Given the description of an element on the screen output the (x, y) to click on. 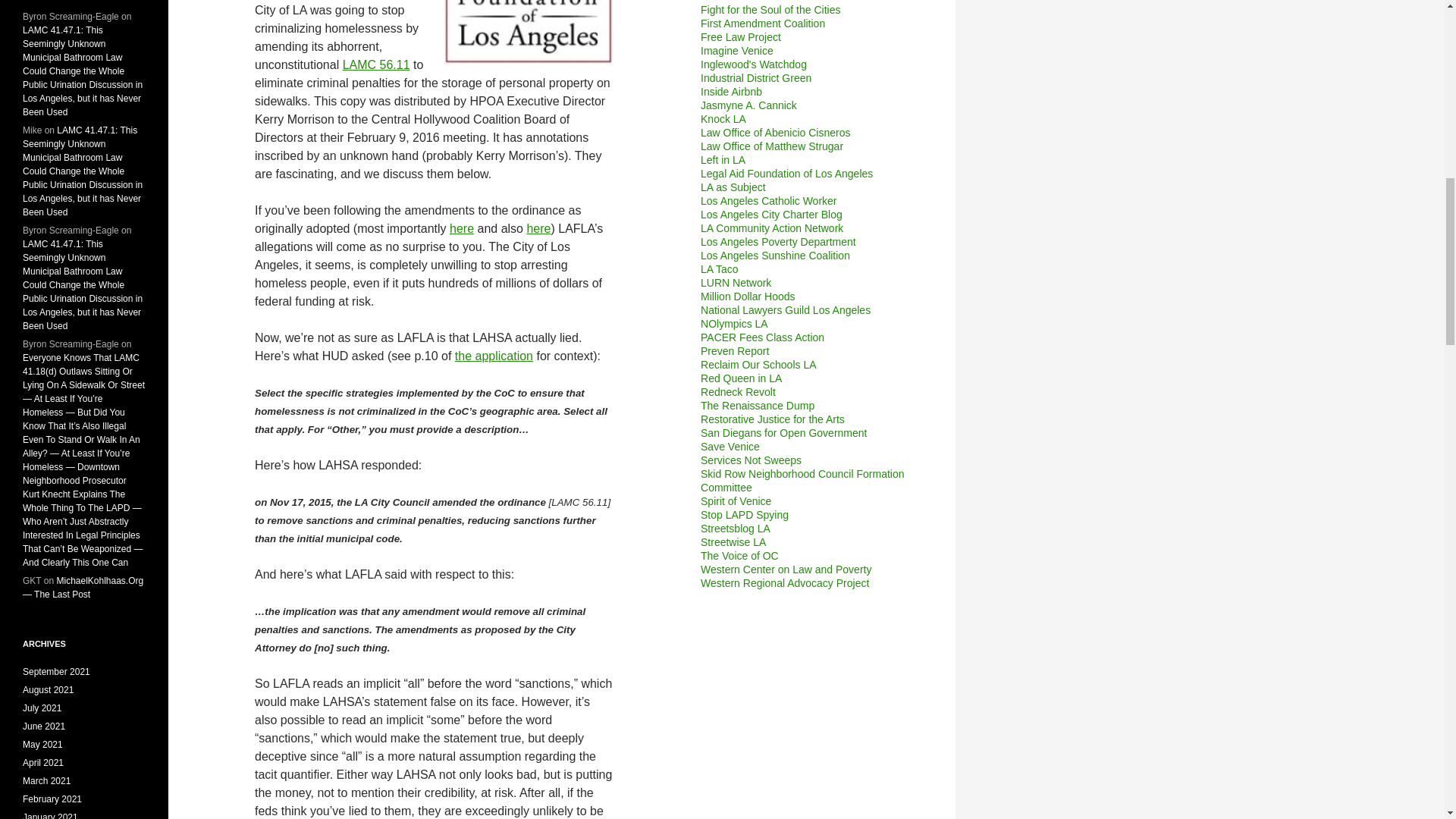
here (537, 228)
the application (493, 355)
LAMC 56.11 (376, 64)
here (461, 228)
